Given the description of an element on the screen output the (x, y) to click on. 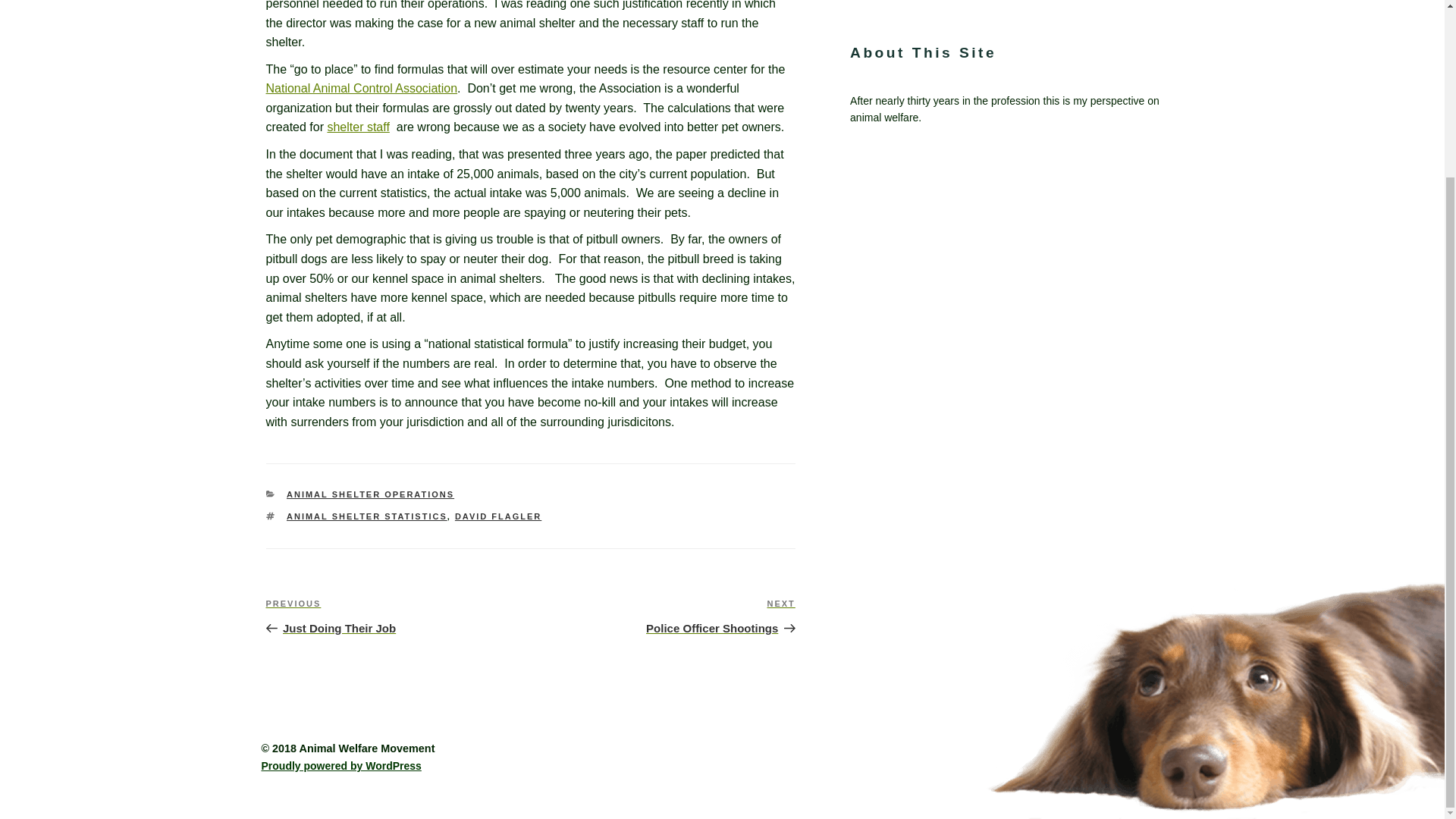
ANIMAL SHELTER STATISTICS (396, 616)
National Animal Control Association (366, 515)
DAVID FLAGLER (662, 616)
shelter staff (360, 88)
ANIMAL SHELTER OPERATIONS (497, 515)
Proudly powered by WordPress (357, 126)
